Given the description of an element on the screen output the (x, y) to click on. 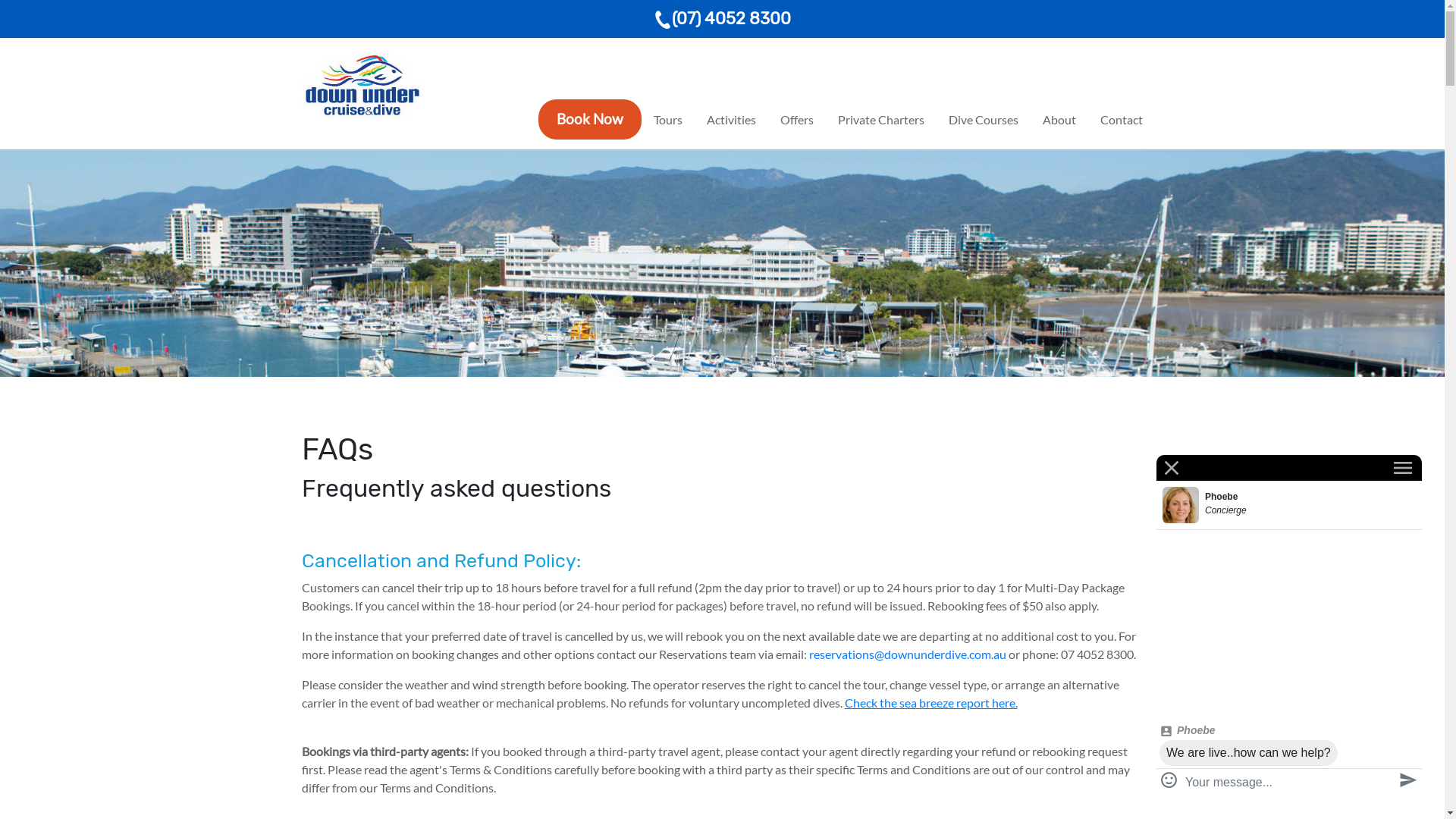
Activities Element type: text (731, 119)
Book Now Element type: text (589, 118)
Private Charters Element type: text (880, 119)
(07) 4052 8300 Element type: text (721, 18)
Offers Element type: text (795, 119)
Tours Element type: text (667, 119)
About Element type: text (1058, 119)
Contact Element type: text (1120, 119)
reservations@downunderdive.com.au Element type: text (906, 653)
Check the sea breeze report here. Element type: text (930, 702)
Dive Courses Element type: text (982, 119)
